Given the description of an element on the screen output the (x, y) to click on. 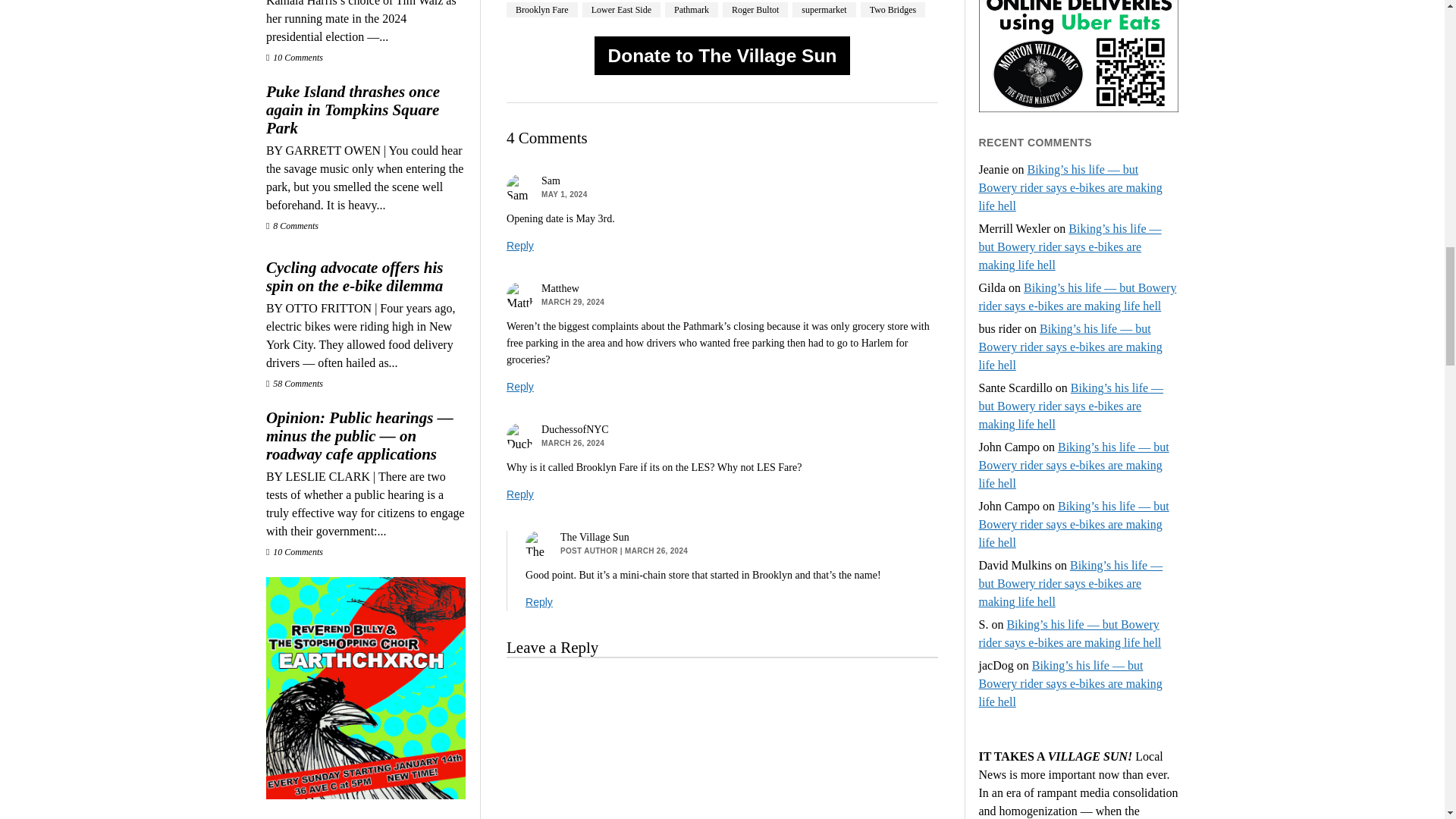
View all posts tagged Brooklyn Fare (542, 9)
Puke Island thrashes once again in Tompkins Square Park  (365, 109)
58 Comments (294, 383)
Donate to The Village Sun (722, 56)
View all posts tagged Lower East Side (621, 9)
10 Comments (294, 57)
Pathmark (691, 9)
Roger Bultot (754, 9)
8 Comments (292, 225)
Cycling advocate offers his spin on the e-bike dilemma (365, 276)
